Given the description of an element on the screen output the (x, y) to click on. 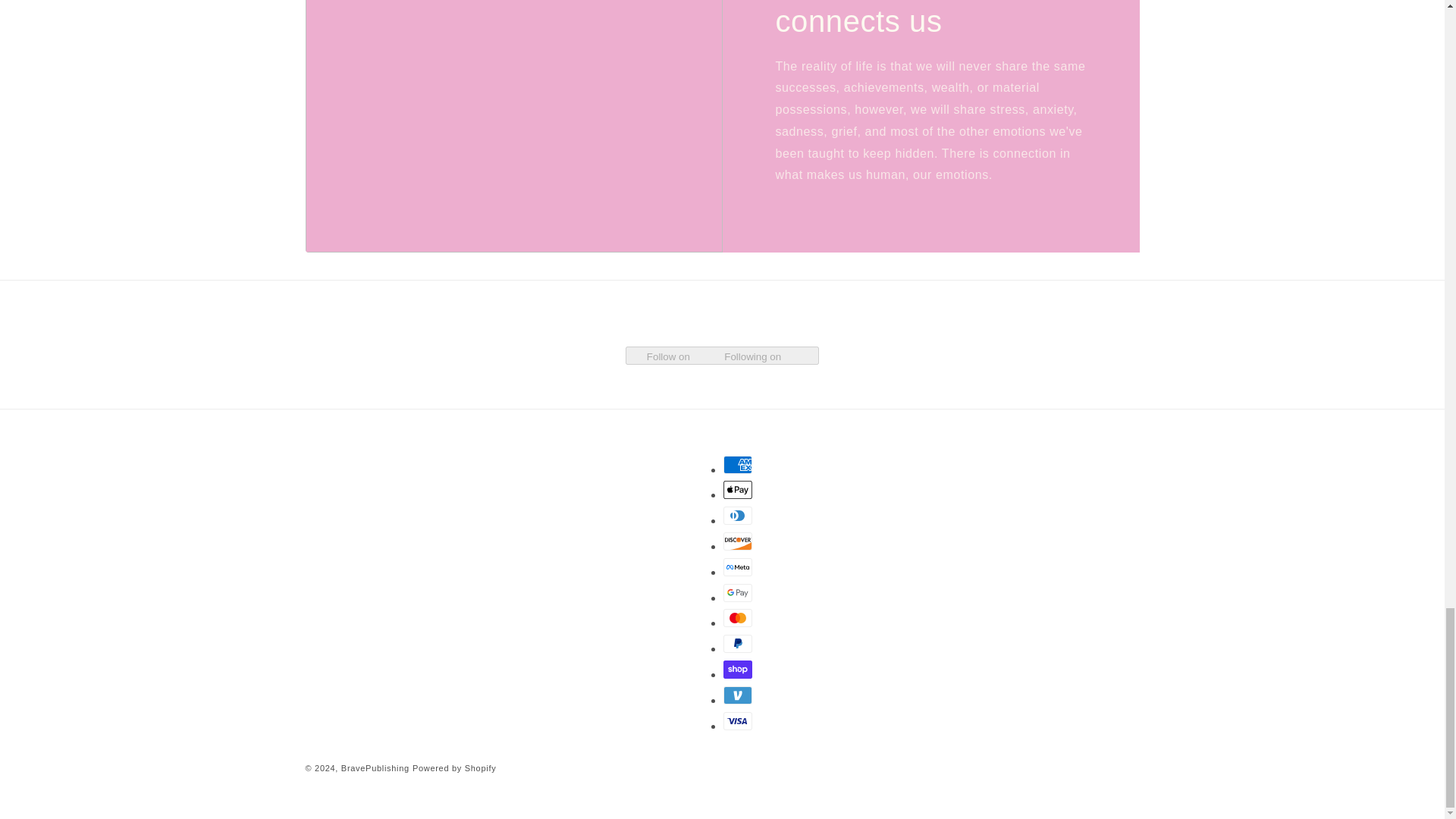
Visa (737, 720)
Google Pay (737, 592)
Discover (737, 541)
BravePublishing (374, 768)
Meta Pay (737, 566)
PayPal (737, 643)
Shop Pay (737, 669)
American Express (737, 464)
Powered by Shopify (454, 768)
Diners Club (737, 515)
